Given the description of an element on the screen output the (x, y) to click on. 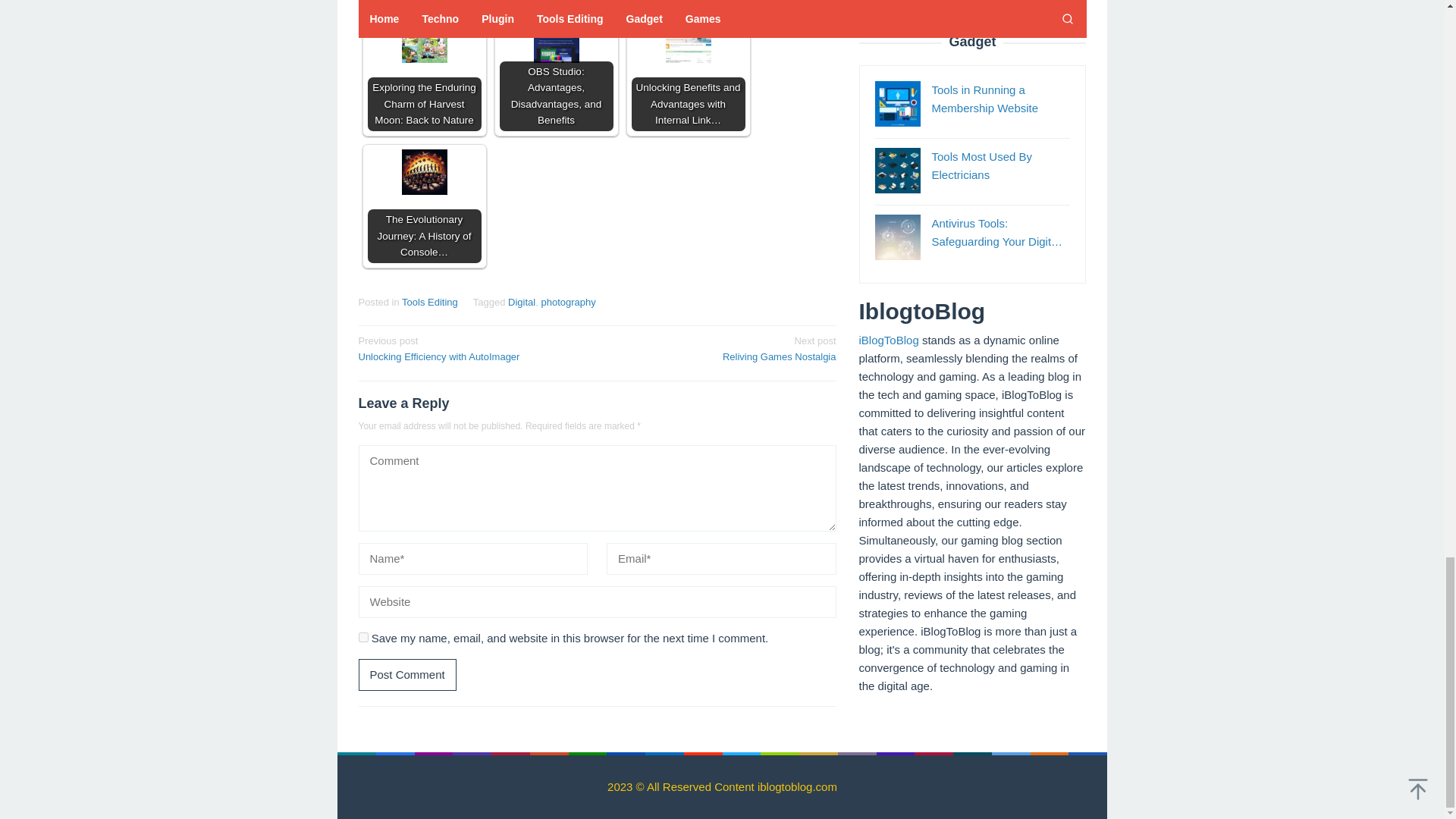
Post Comment (406, 675)
Digital (521, 301)
Tools Editing (429, 301)
Exploring the Enduring Charm of Harvest Moon: Back to Nature (721, 347)
yes (423, 74)
OBS Studio: Advantages, Disadvantages, and Benefits (472, 347)
photography (363, 637)
